Given the description of an element on the screen output the (x, y) to click on. 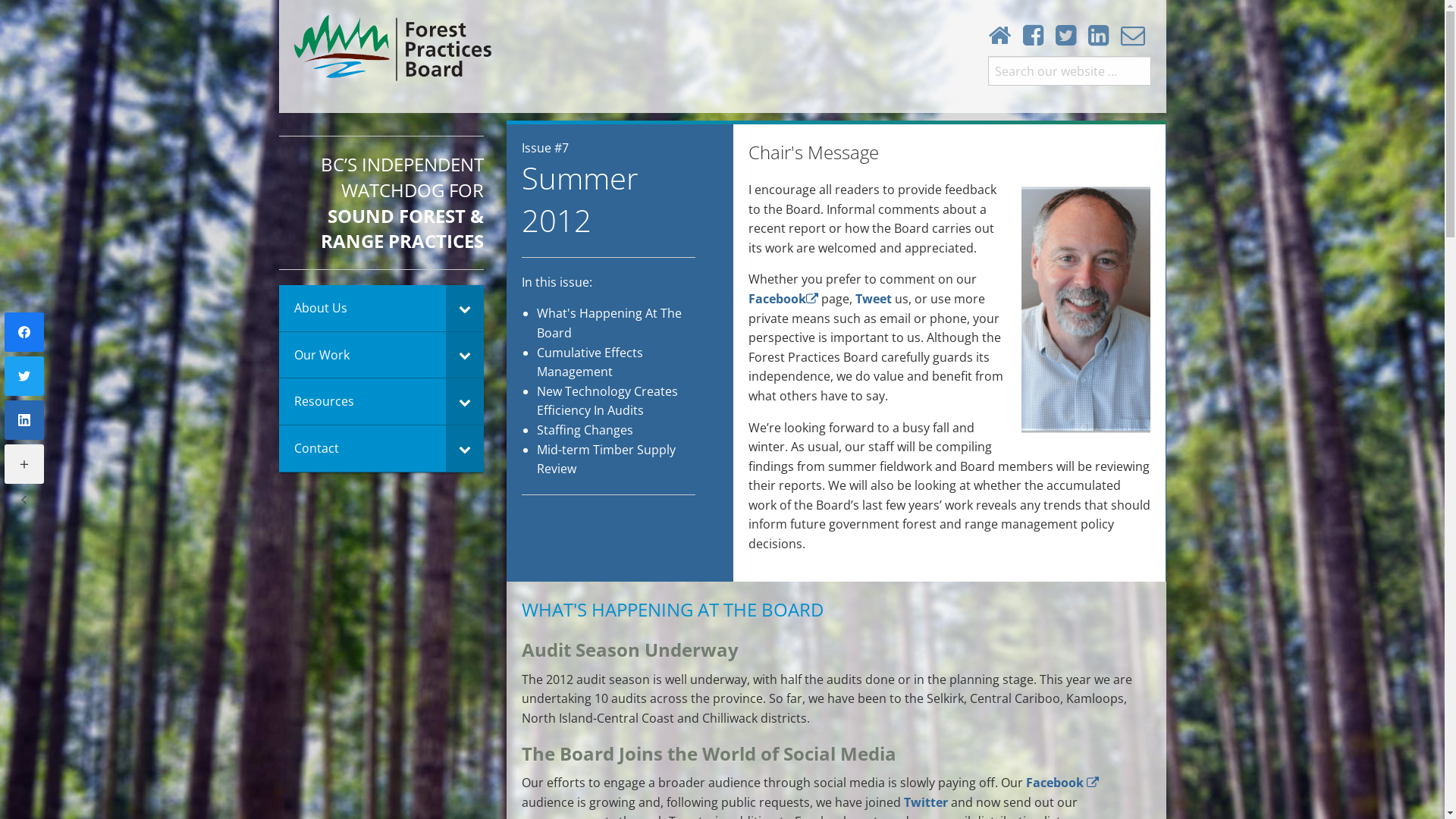
New Technology Creates Efficiency In Audits Element type: text (606, 400)
Cumulative Effects Management Element type: text (589, 362)
Facebook Element type: text (783, 298)
Resources Element type: text (381, 401)
Tweet Element type: text (874, 298)
Staffing Changes Element type: text (584, 429)
Twitter Element type: text (926, 801)
Facebook Element type: text (1061, 782)
Our Work Element type: text (381, 355)
Mid-term Timber Supply Review Element type: text (605, 459)
Search for: Element type: hover (1068, 70)
Contact Element type: text (381, 448)
About Us Element type: text (381, 308)
What's Happening At The Board Element type: text (608, 322)
